Given the description of an element on the screen output the (x, y) to click on. 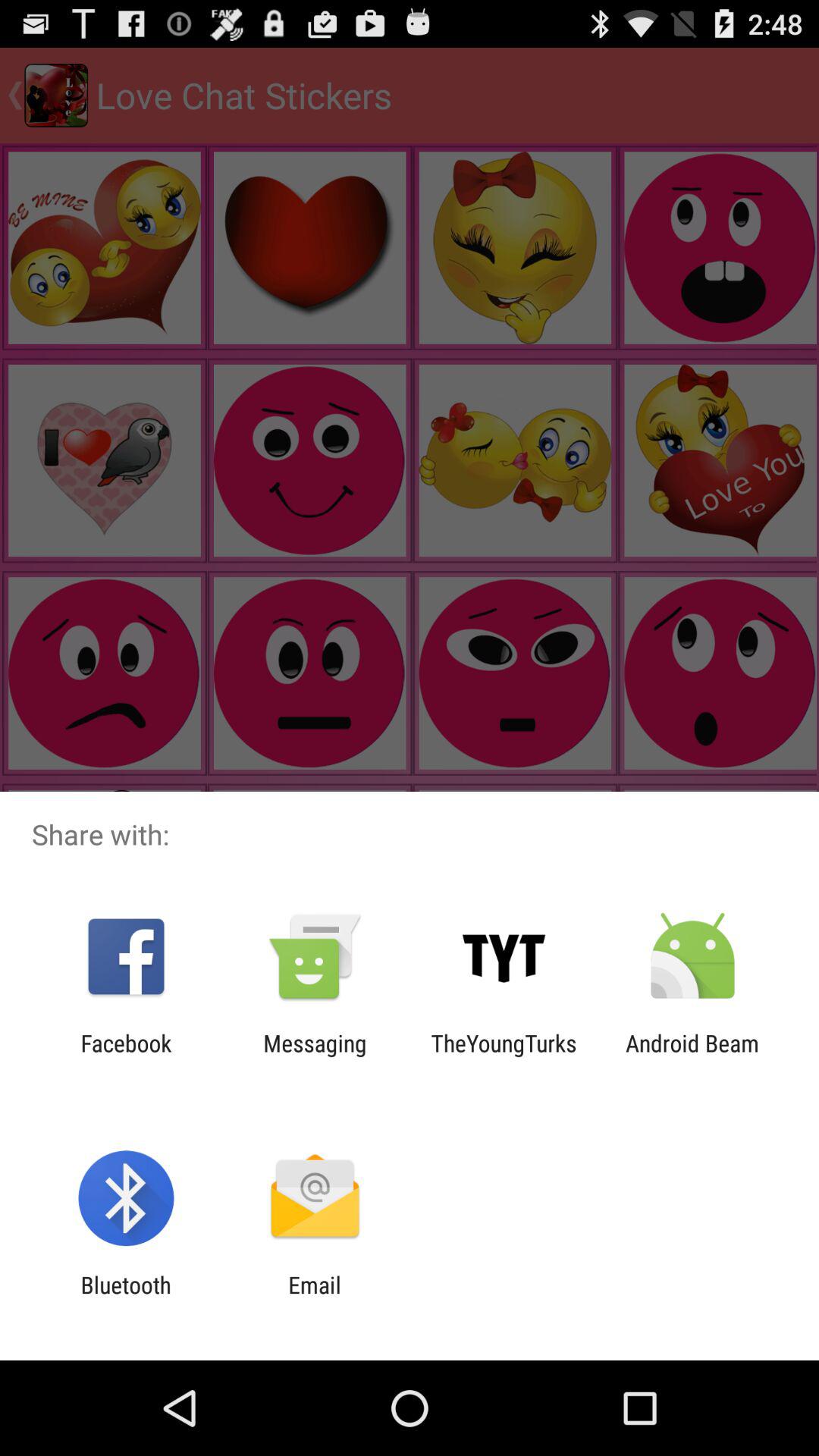
choose the app to the right of facebook (314, 1056)
